Given the description of an element on the screen output the (x, y) to click on. 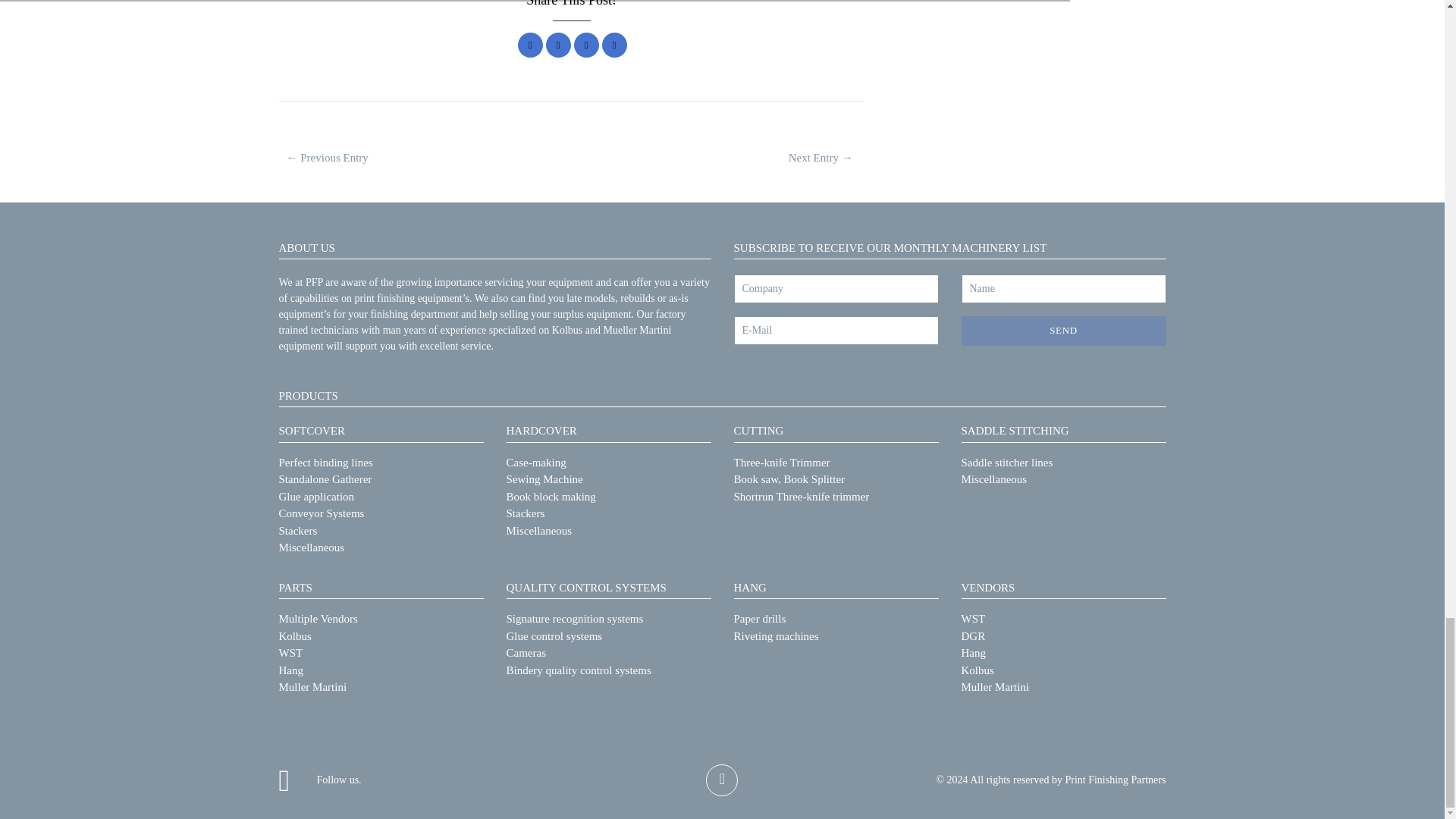
Facebook (530, 44)
Linkedin (585, 44)
Finishing of complete Kolbus - Mueller Martini bookline (327, 157)
Company (836, 288)
Twitter (558, 44)
Email (614, 44)
